Given the description of an element on the screen output the (x, y) to click on. 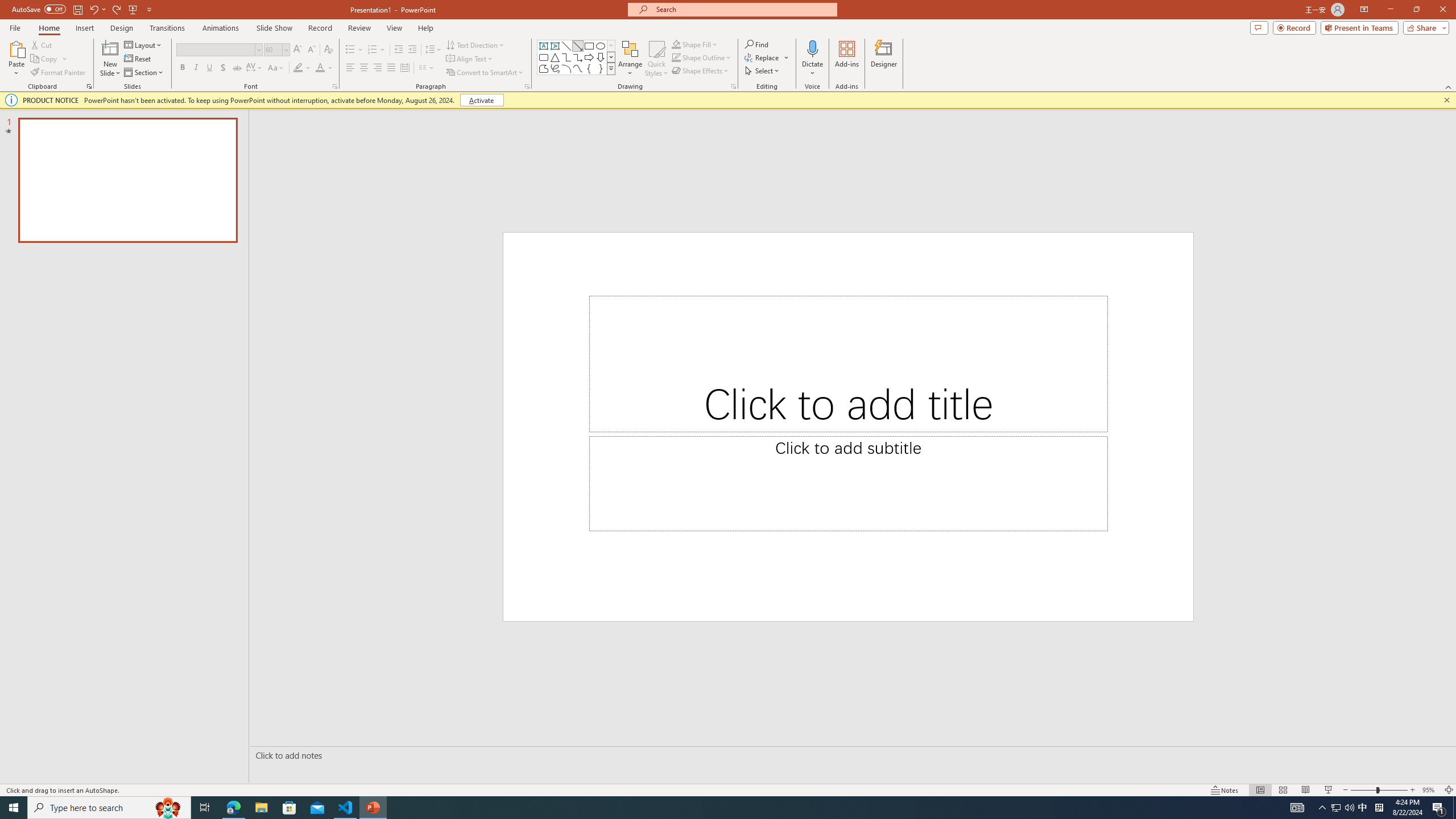
Close this message (1446, 99)
